Given the description of an element on the screen output the (x, y) to click on. 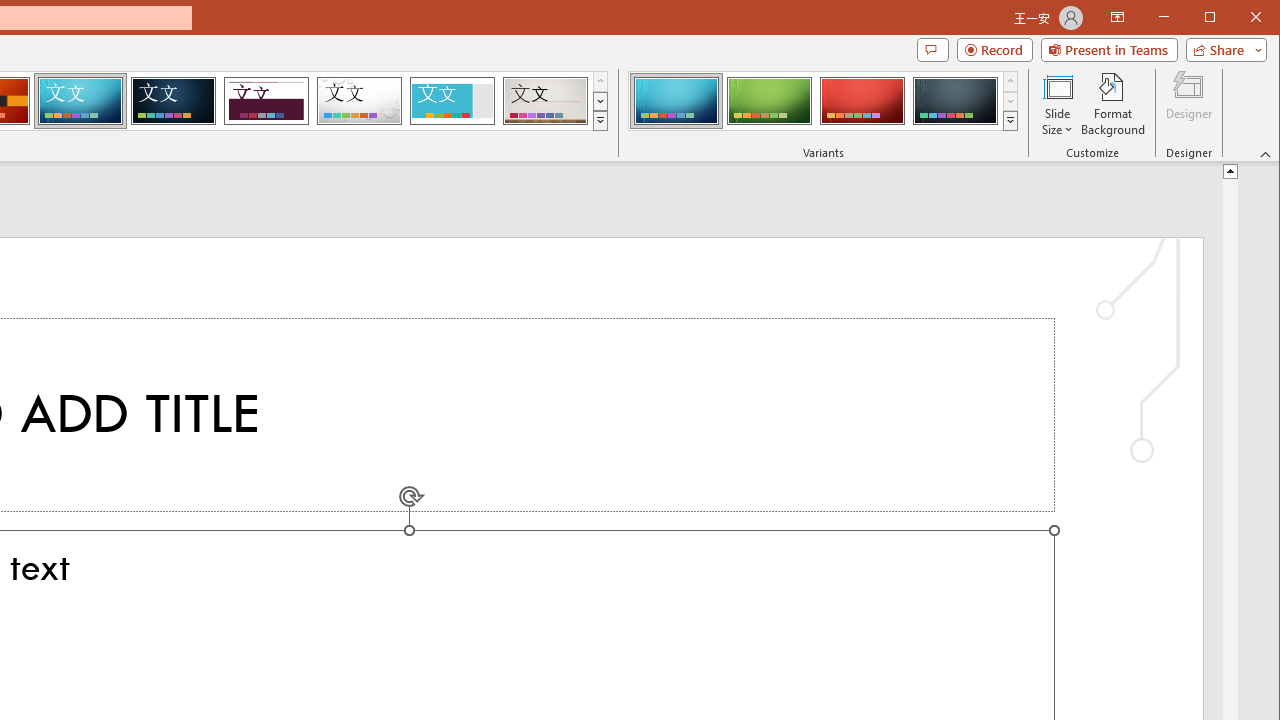
Slide Size (1057, 104)
Damask (173, 100)
Circuit Variant 2 (769, 100)
Themes (600, 120)
Circuit Variant 1 (676, 100)
Format Background (1113, 104)
